Given the description of an element on the screen output the (x, y) to click on. 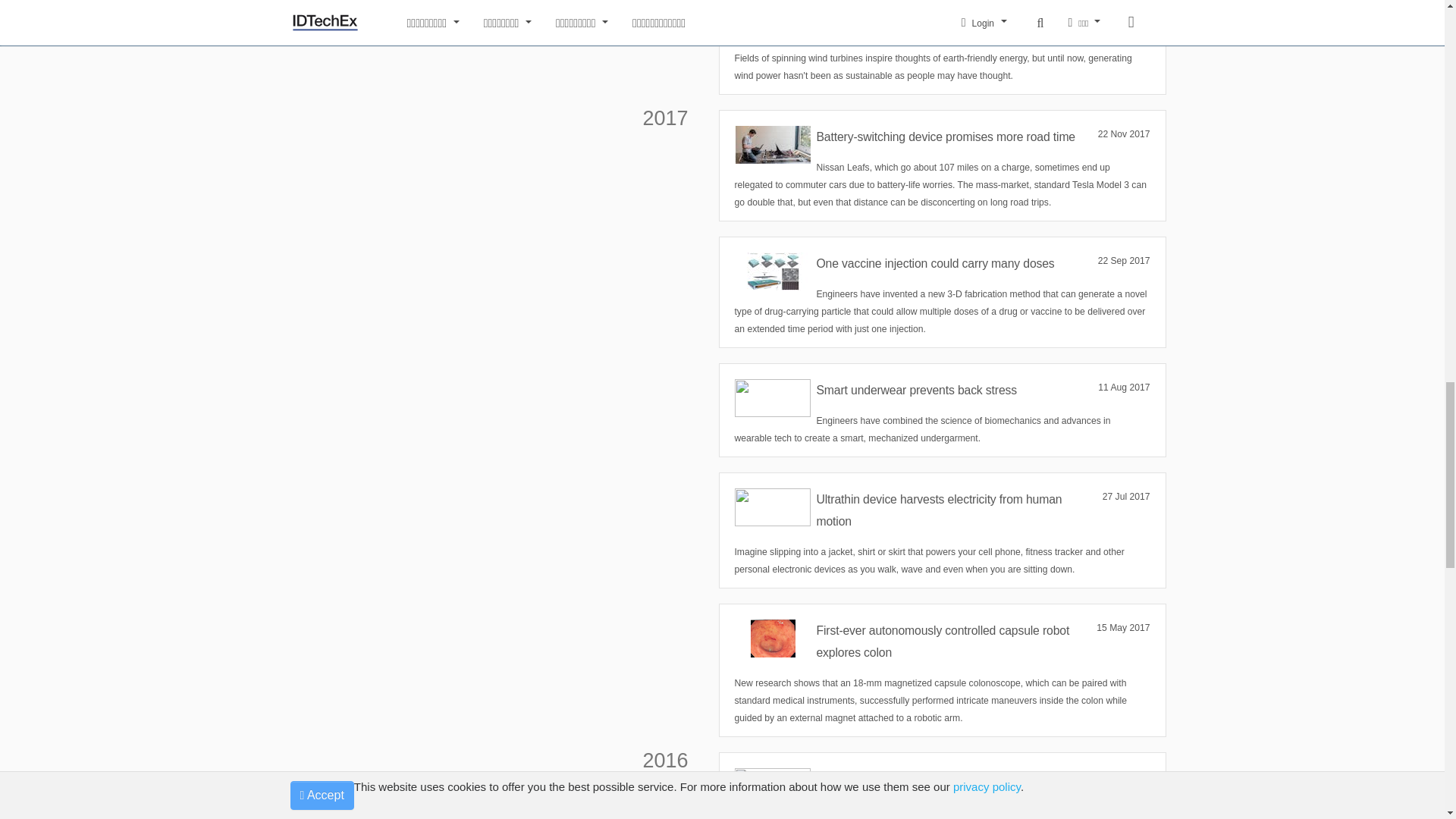
15 May 2017 (1123, 628)
27 Jul 2017 (1126, 497)
14 Nov 2016 (1123, 776)
22 Nov 2017 (1123, 134)
22 Sep 2017 (1123, 261)
23 Feb 2018 (1123, 6)
11 Aug 2017 (1123, 387)
